Given the description of an element on the screen output the (x, y) to click on. 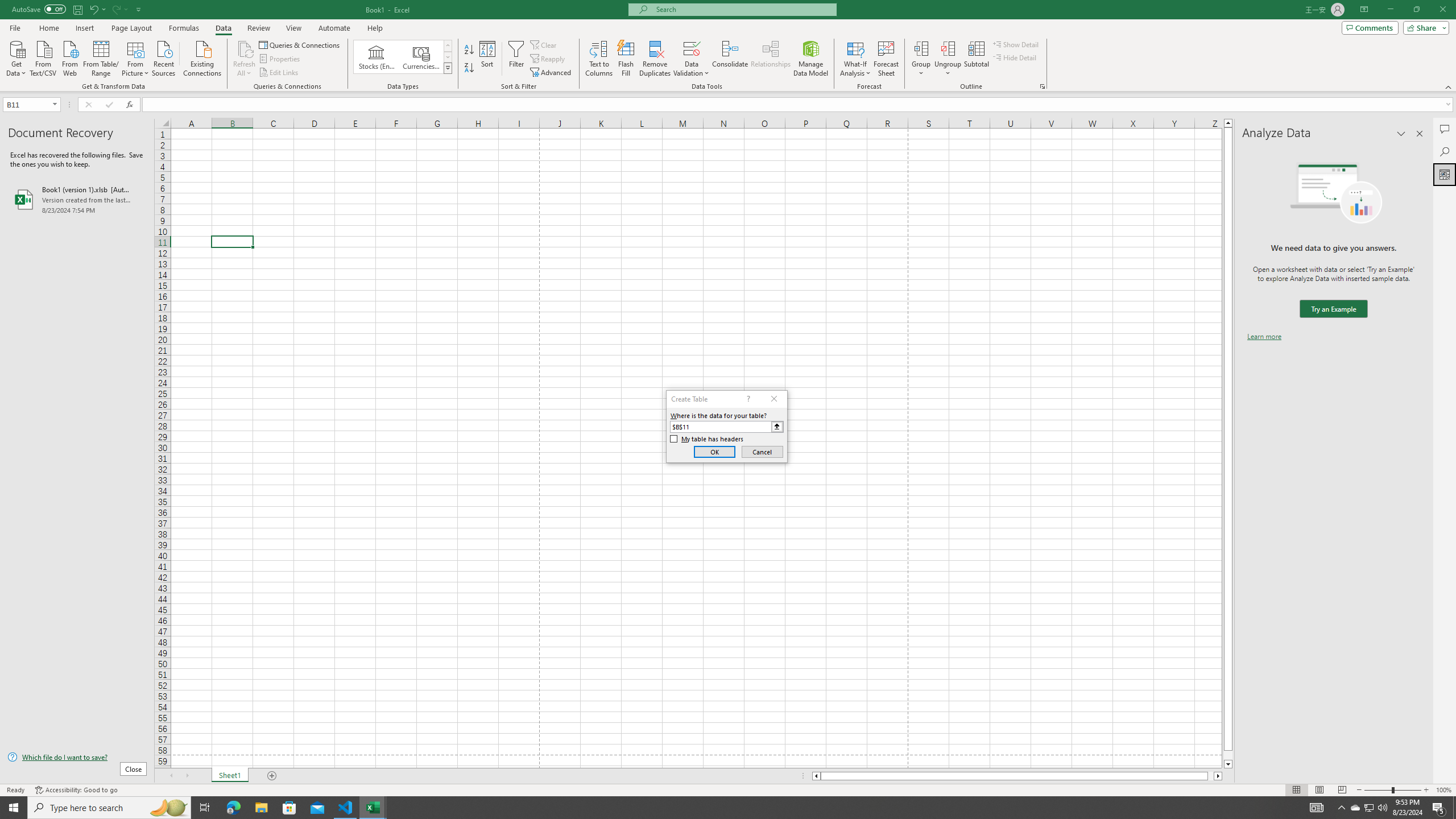
Which file do I want to save? (77, 757)
Remove Duplicates (654, 58)
Sort Z to A (469, 67)
From Text/CSV (43, 57)
What-If Analysis (855, 58)
Row Down (448, 56)
Hide Detail (1014, 56)
